Given the description of an element on the screen output the (x, y) to click on. 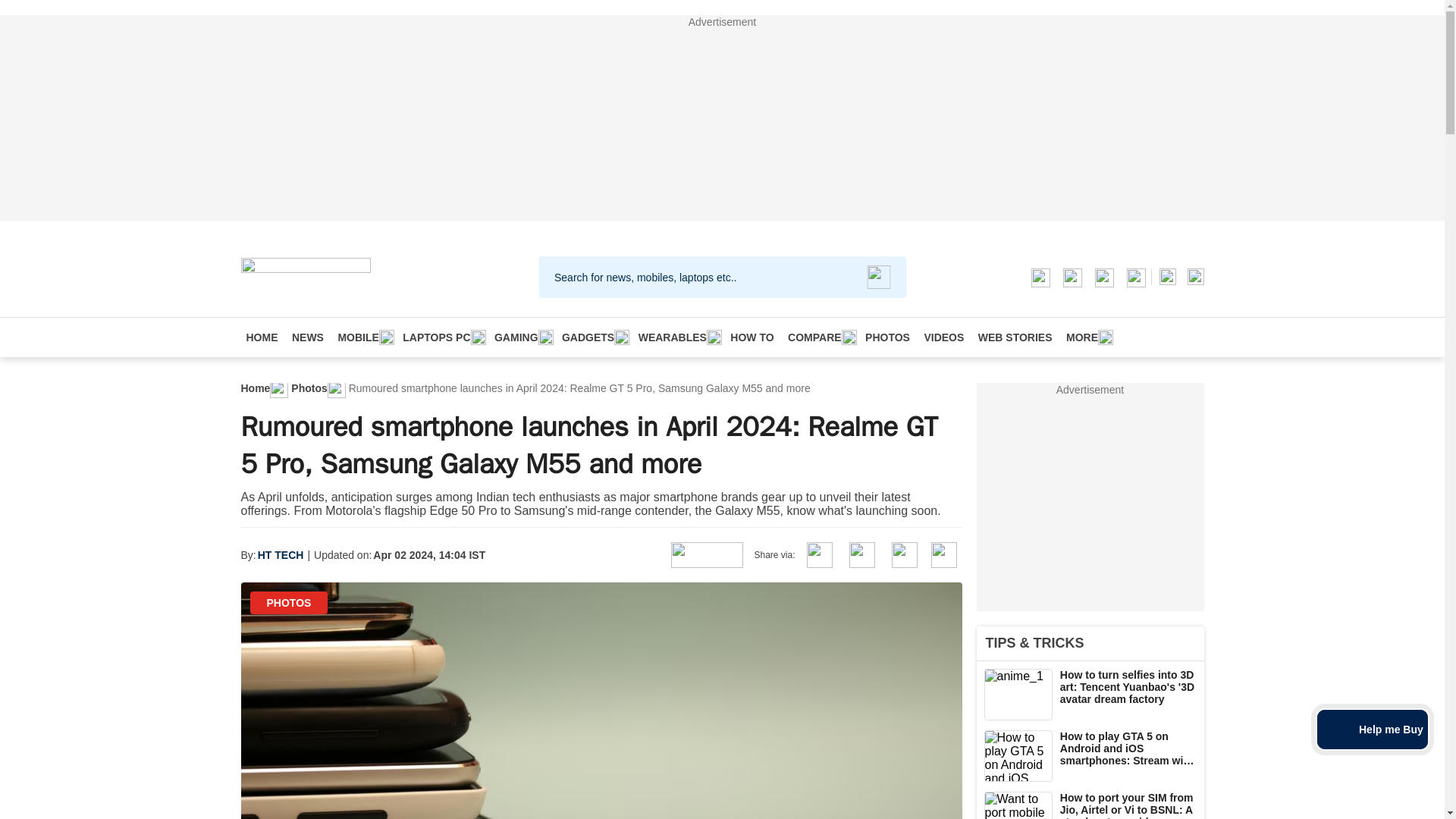
WhatsApp channel (1039, 276)
facebook (1071, 276)
twitter (1103, 276)
LAPTOPS PC (440, 337)
MOBILE (362, 337)
Login (1196, 276)
WEARABLES (677, 337)
youtube (1134, 276)
NEWS (307, 337)
GAMING (521, 337)
